Given the description of an element on the screen output the (x, y) to click on. 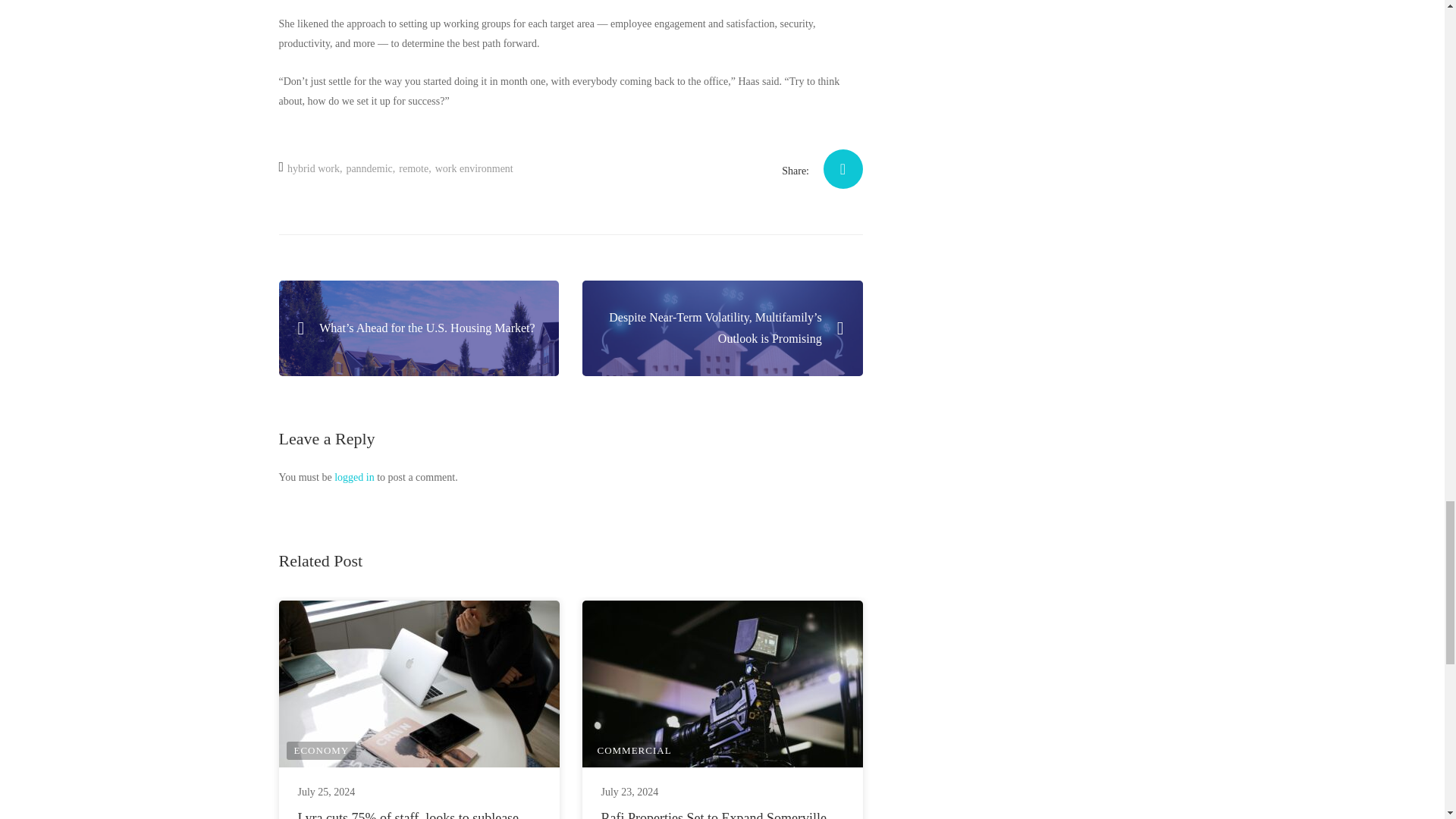
Economy (321, 751)
